Given the description of an element on the screen output the (x, y) to click on. 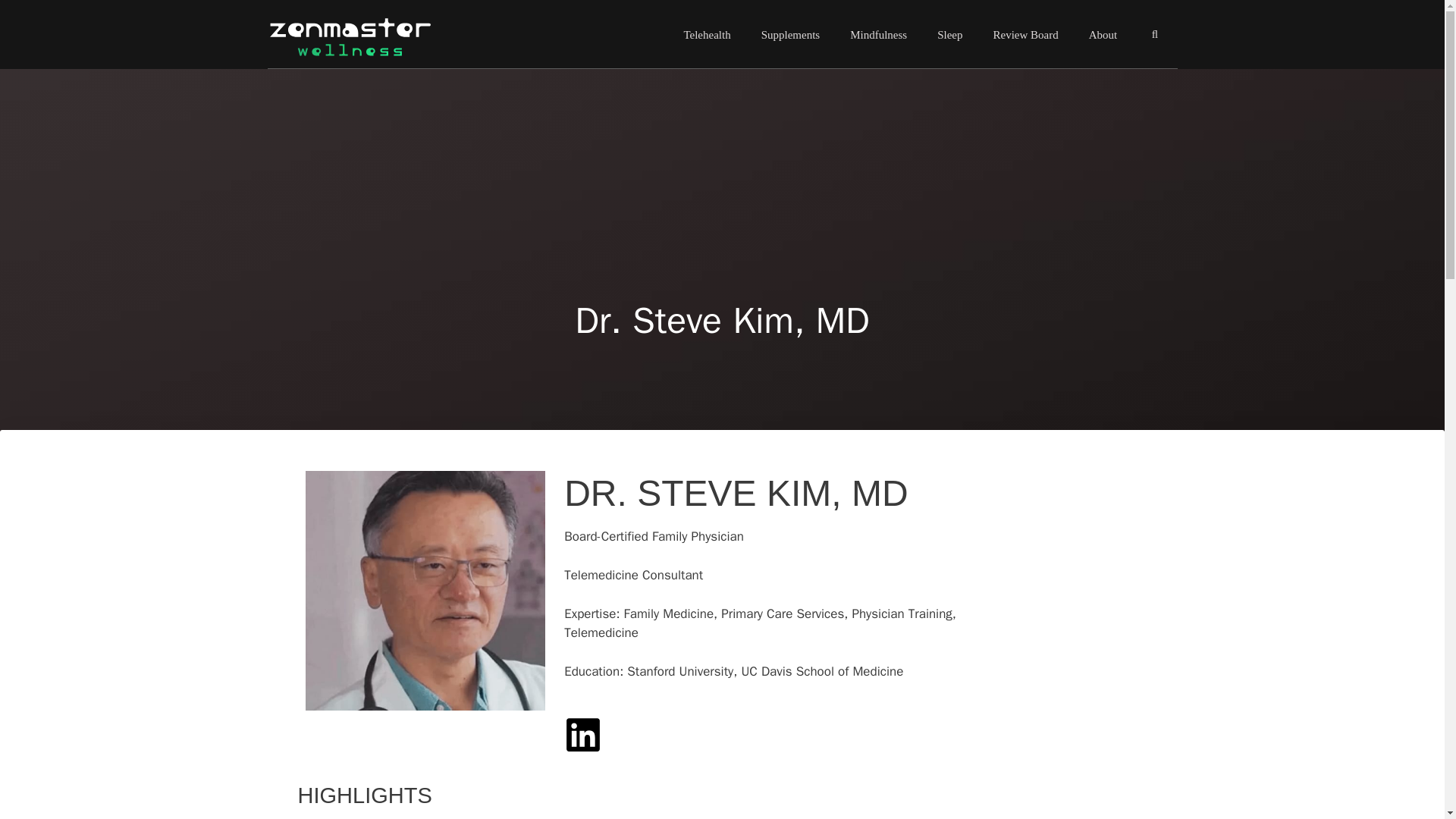
Zenmaster (365, 33)
Telehealth (706, 35)
Mindfulness (877, 35)
Sleep (948, 35)
Review Board (1024, 35)
Supplements (790, 35)
Zenmaster (349, 33)
About (1103, 35)
